Given the description of an element on the screen output the (x, y) to click on. 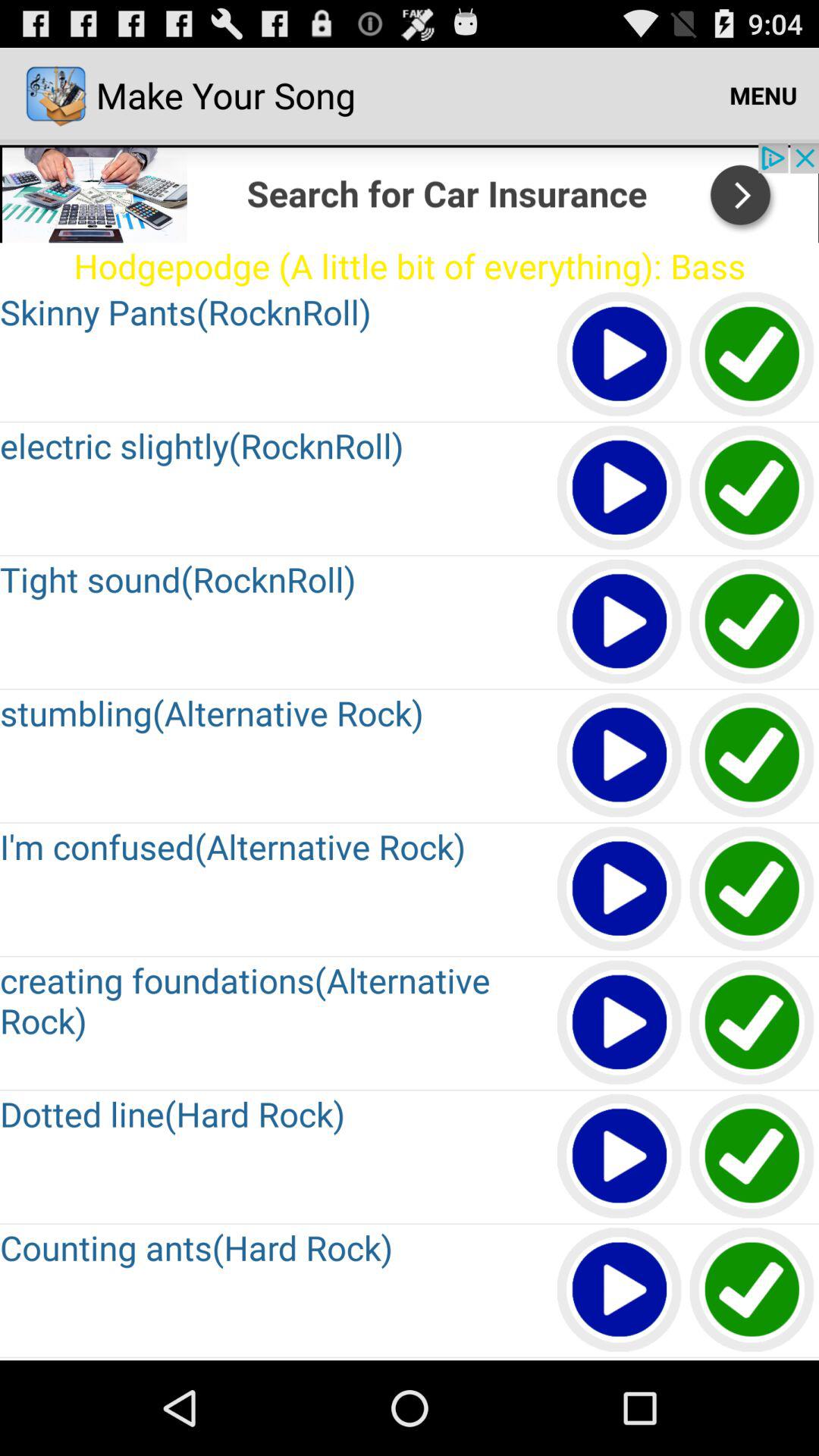
click the tick box (752, 488)
